Given the description of an element on the screen output the (x, y) to click on. 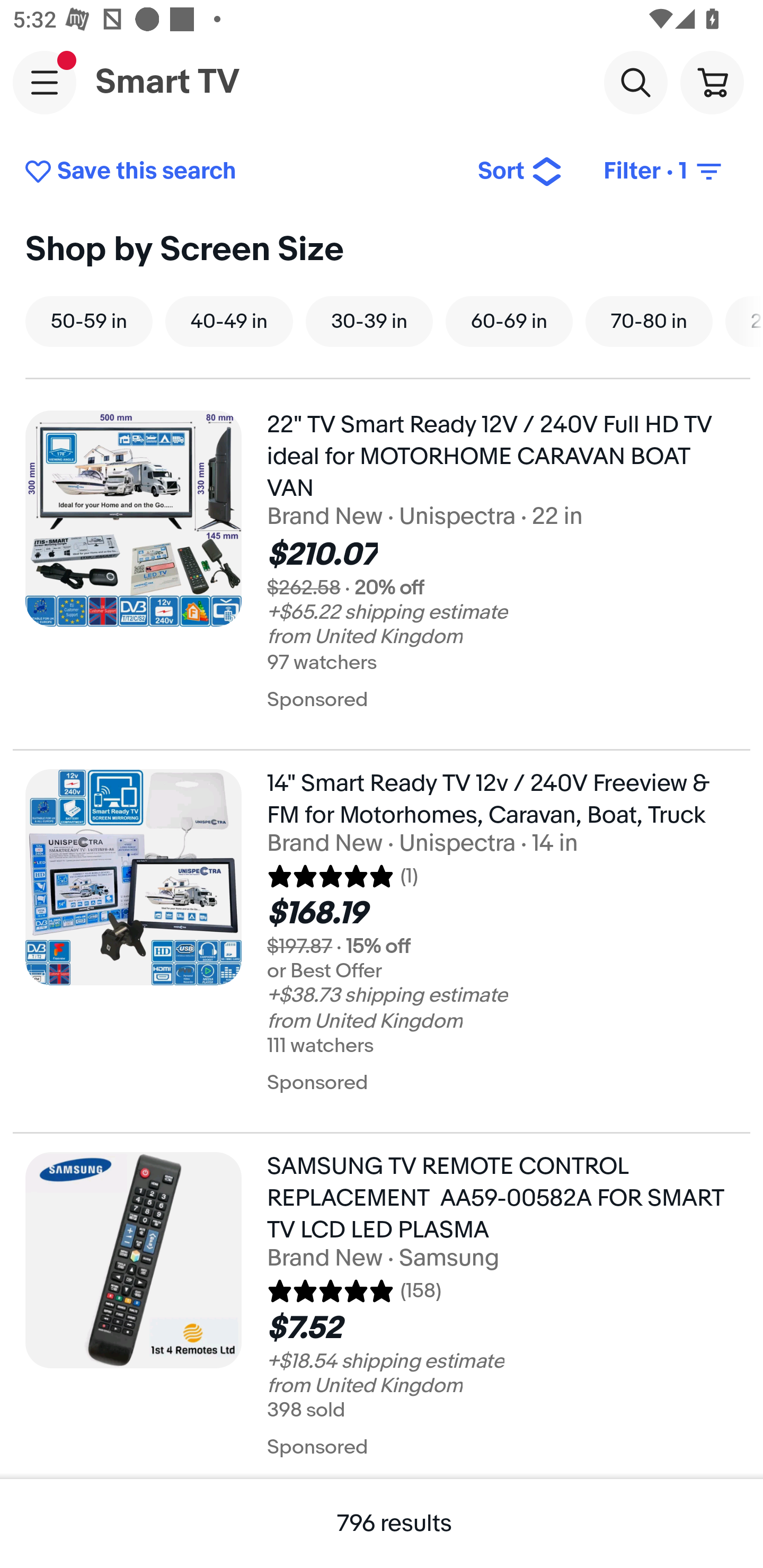
Main navigation, open (44, 82)
Search (635, 81)
Cart button shopping cart (711, 81)
Save this search (237, 171)
Sort (520, 171)
Filter • 1 Filter (1 applied) (663, 171)
50-59 in 50-59 in, Screen Size (88, 321)
40-49 in 40-49 in, Screen Size (228, 321)
30-39 in 30-39 in, Screen Size (368, 321)
60-69 in 60-69 in, Screen Size (509, 321)
70-80 in 70-80 in, Screen Size (648, 321)
20-29 in 20-29 in, Screen Size (744, 321)
